Given the description of an element on the screen output the (x, y) to click on. 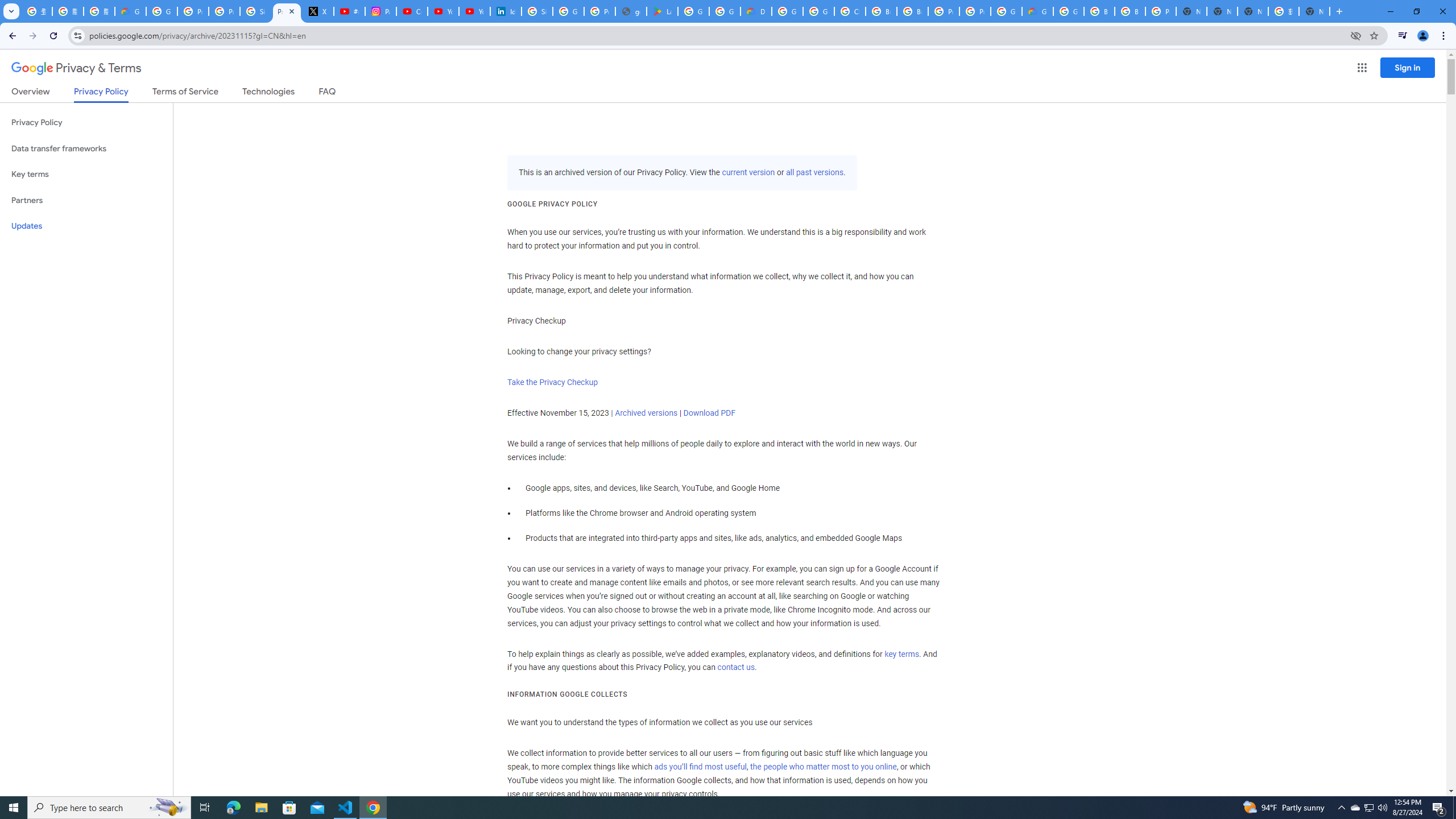
Google Cloud Estimate Summary (1037, 11)
